Given the description of an element on the screen output the (x, y) to click on. 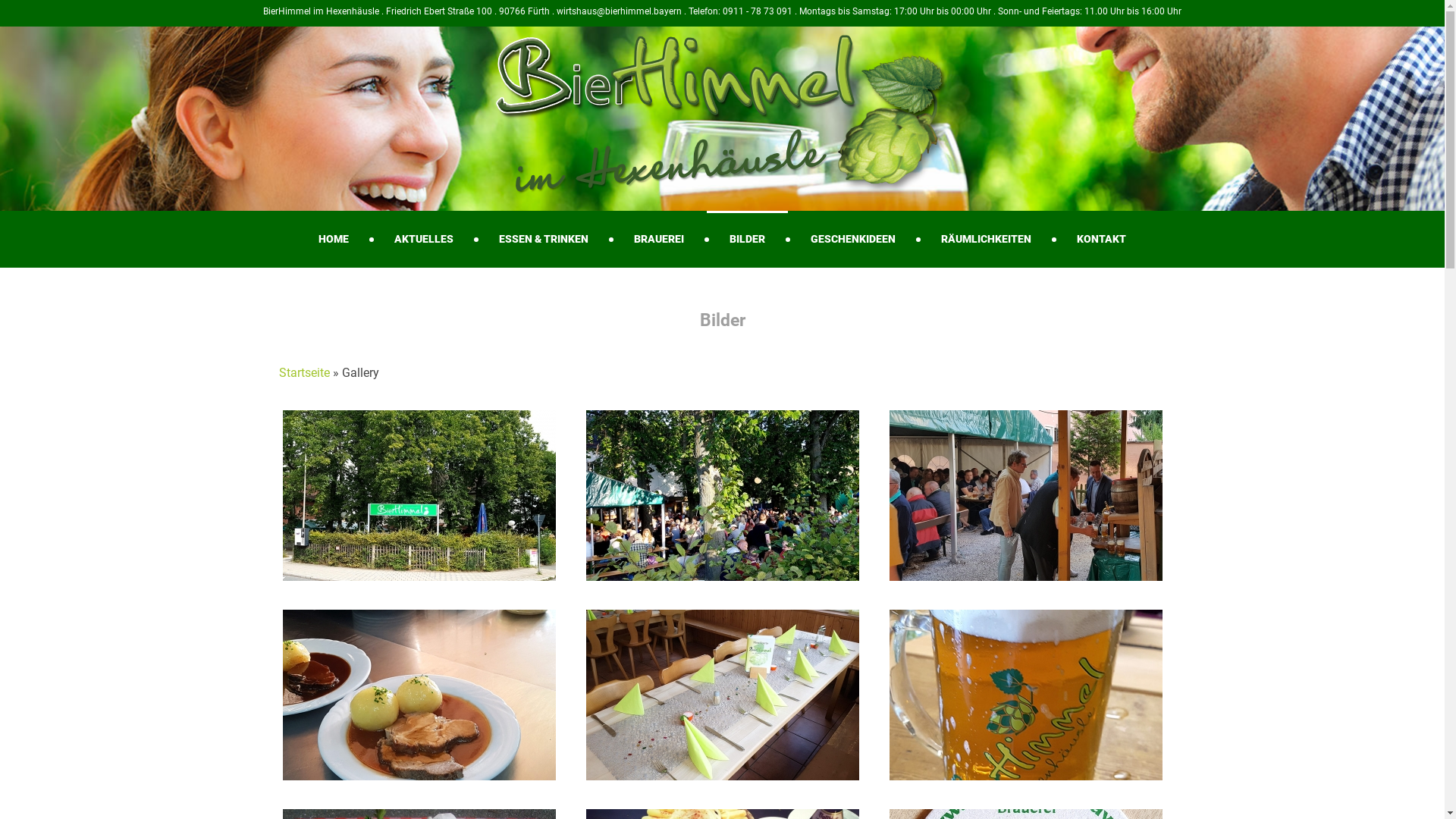
KONTAKT Element type: text (1101, 236)
BILDER Element type: text (746, 236)
HOME Element type: text (333, 236)
ESSEN & TRINKEN Element type: text (543, 236)
BRAUEREI Element type: text (658, 236)
Startseite Element type: text (304, 372)
AKTUELLES Element type: text (423, 236)
GESCHENKIDEEN Element type: text (852, 236)
